Given the description of an element on the screen output the (x, y) to click on. 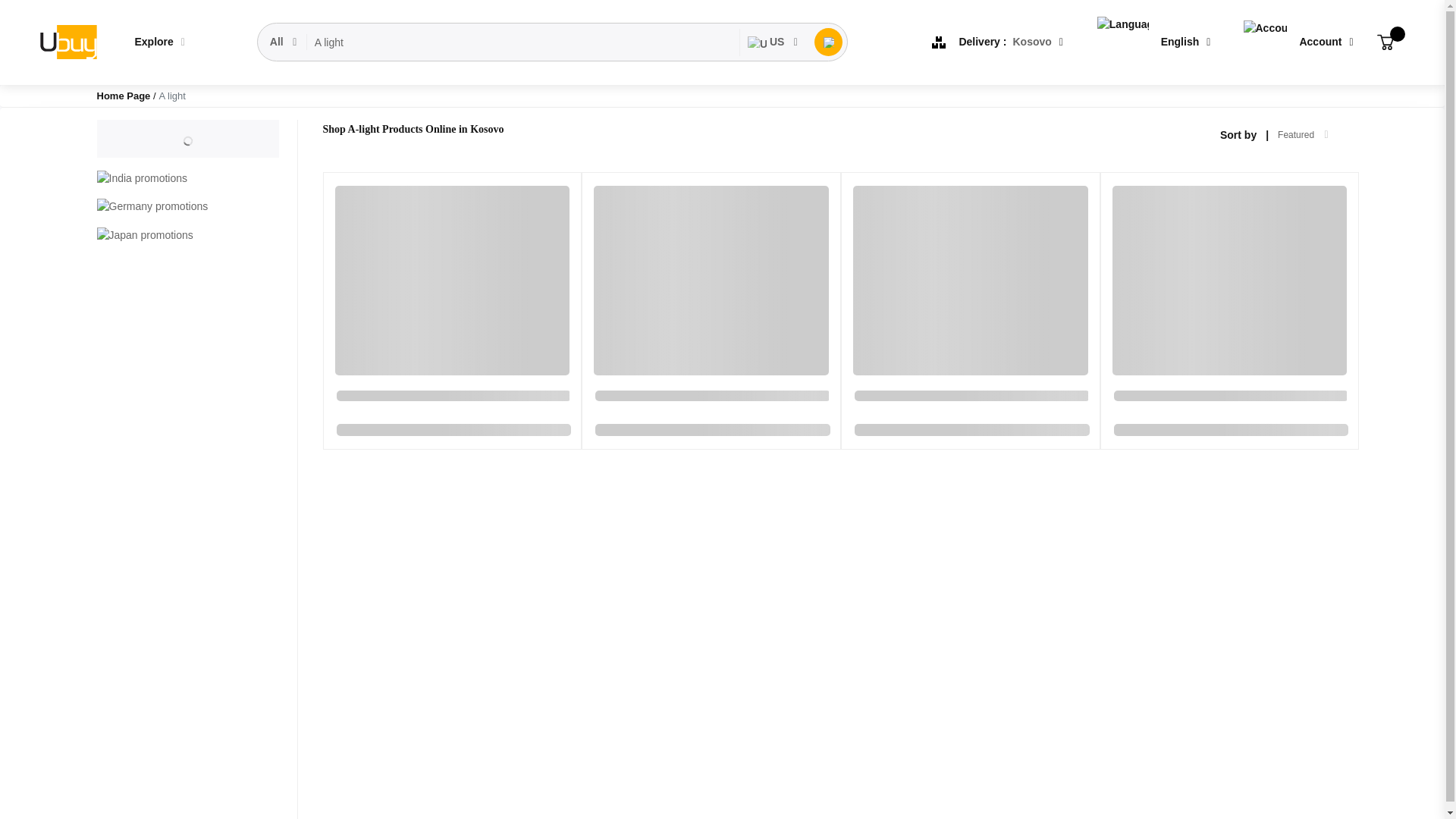
Home Page (124, 95)
Ubuy (67, 42)
A light (523, 42)
Cart (1385, 42)
US (772, 41)
All (283, 41)
A light (523, 42)
Home Page (124, 95)
